Given the description of an element on the screen output the (x, y) to click on. 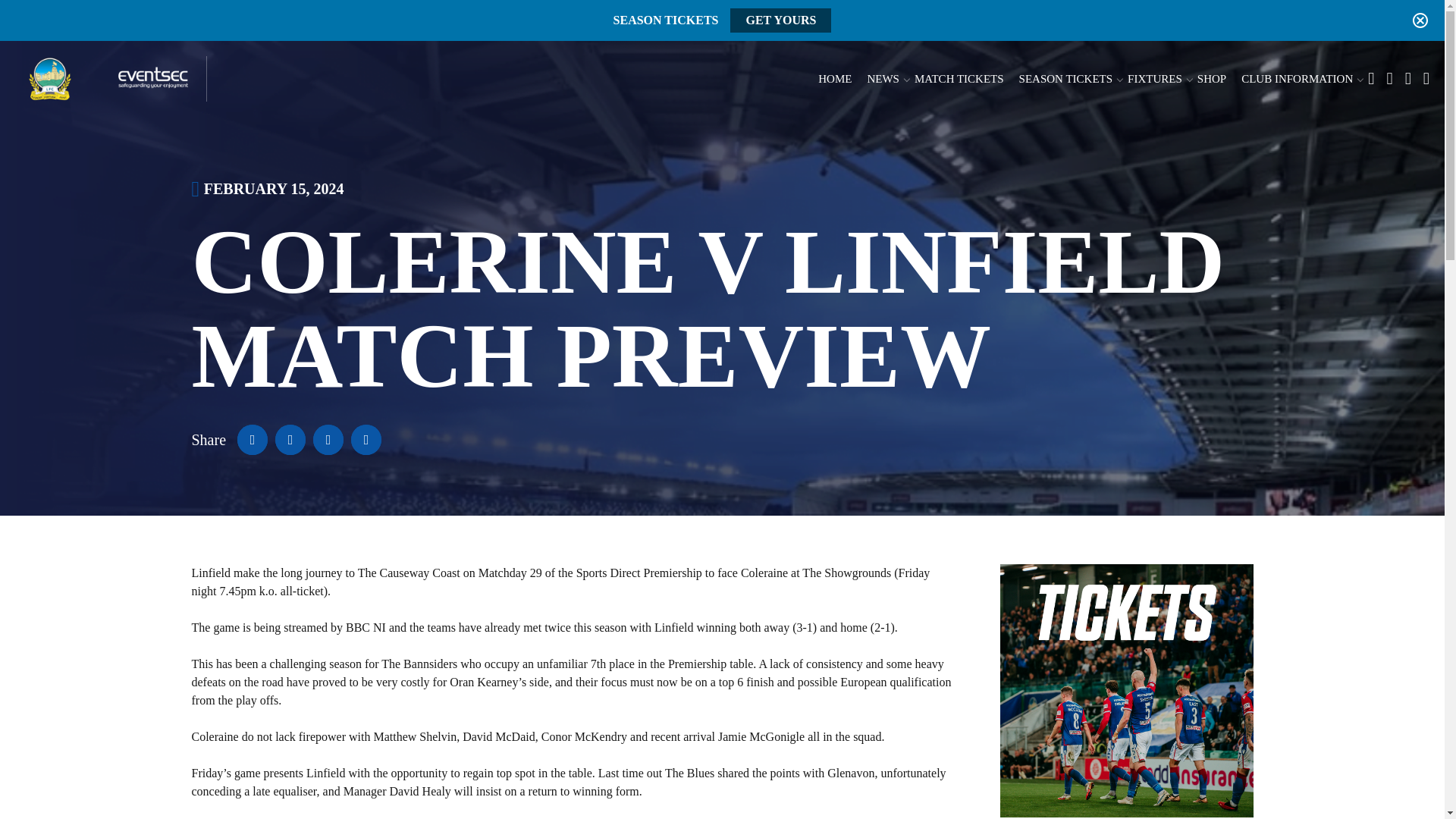
CLUB INFORMATION (1296, 78)
Share on Twitter (290, 440)
Share on LinkedIn (328, 440)
GET YOURS (780, 20)
MATCH TICKETS (959, 78)
SEASON TICKETS (1066, 78)
Share on WhatsApp (365, 440)
Share on Facebook (252, 440)
